Given the description of an element on the screen output the (x, y) to click on. 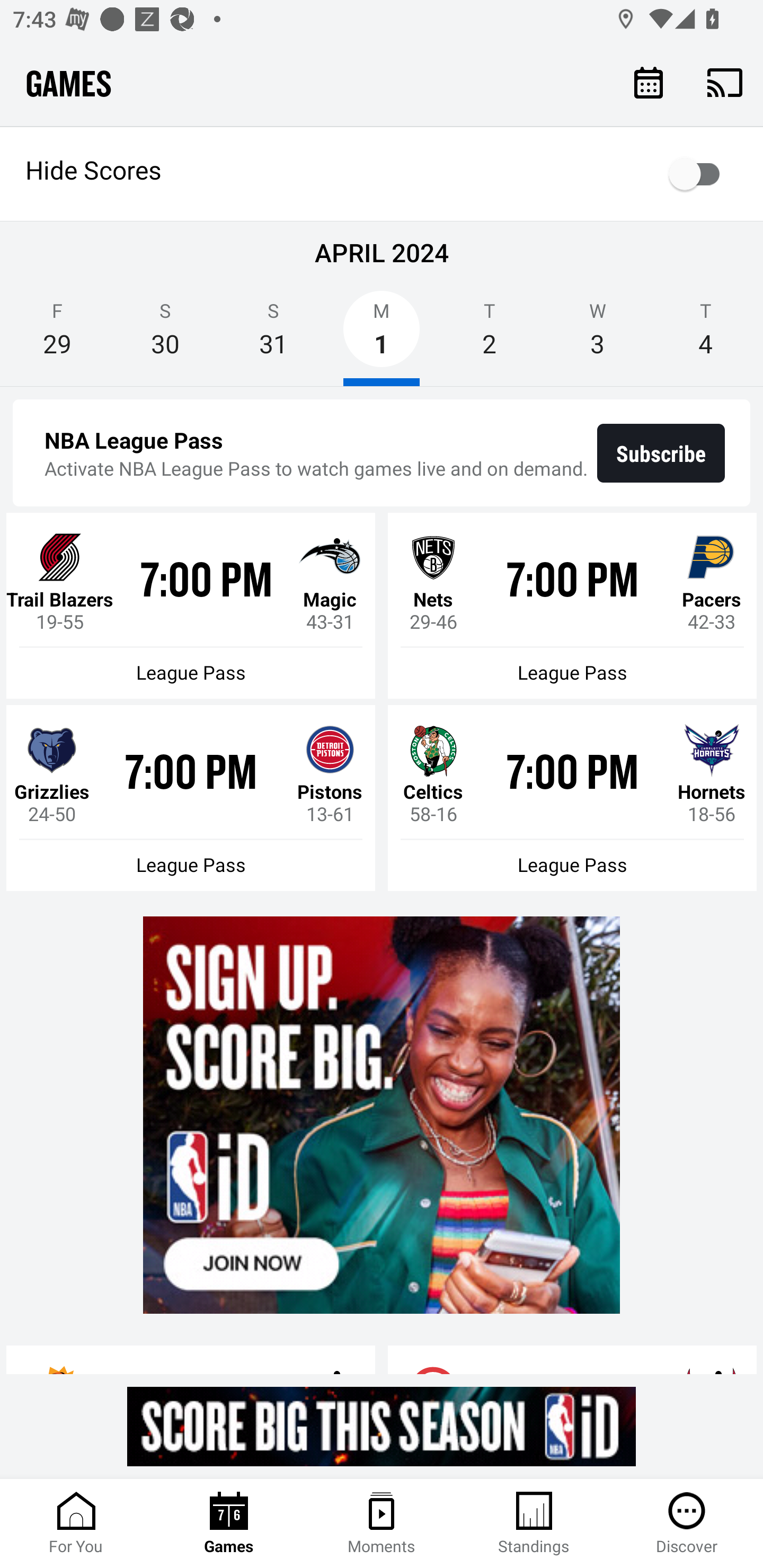
Cast. Disconnected (724, 82)
Calendar (648, 81)
Hide Scores (381, 174)
F 29 (57, 334)
S 30 (165, 334)
S 31 (273, 334)
M 1 (381, 334)
T 2 (489, 334)
W 3 (597, 334)
T 4 (705, 334)
Subscribe (660, 452)
Nets 29-46 7:00 PM Pacers 42-33 League Pass (571, 605)
Grizzlies 24-50 7:00 PM Pistons 13-61 League Pass (190, 797)
Celtics 58-16 7:00 PM Hornets 18-56 League Pass (571, 797)
g5nqqygr7owph (381, 1114)
g5nqqygr7owph (381, 1426)
For You (76, 1523)
Moments (381, 1523)
Standings (533, 1523)
Discover (686, 1523)
